Given the description of an element on the screen output the (x, y) to click on. 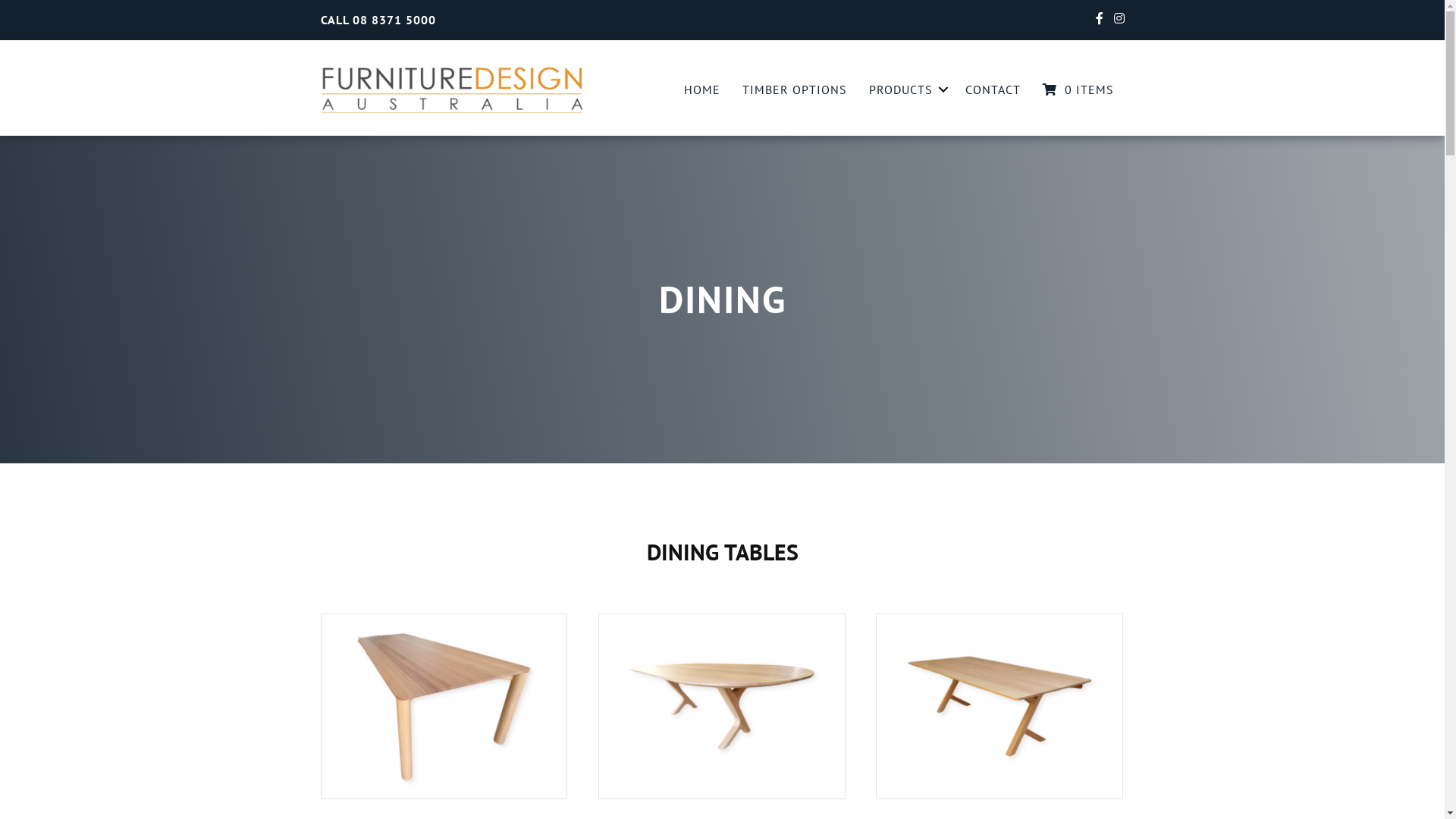
0 ITEMS Element type: text (1077, 89)
08 8371 5000 Element type: text (393, 19)
CONTACT Element type: text (991, 89)
fda-logo-1 Element type: hover (450, 89)
TIMBER OPTIONS Element type: text (793, 89)
HOME Element type: text (702, 89)
PRODUCTS Element type: text (905, 89)
